Given the description of an element on the screen output the (x, y) to click on. 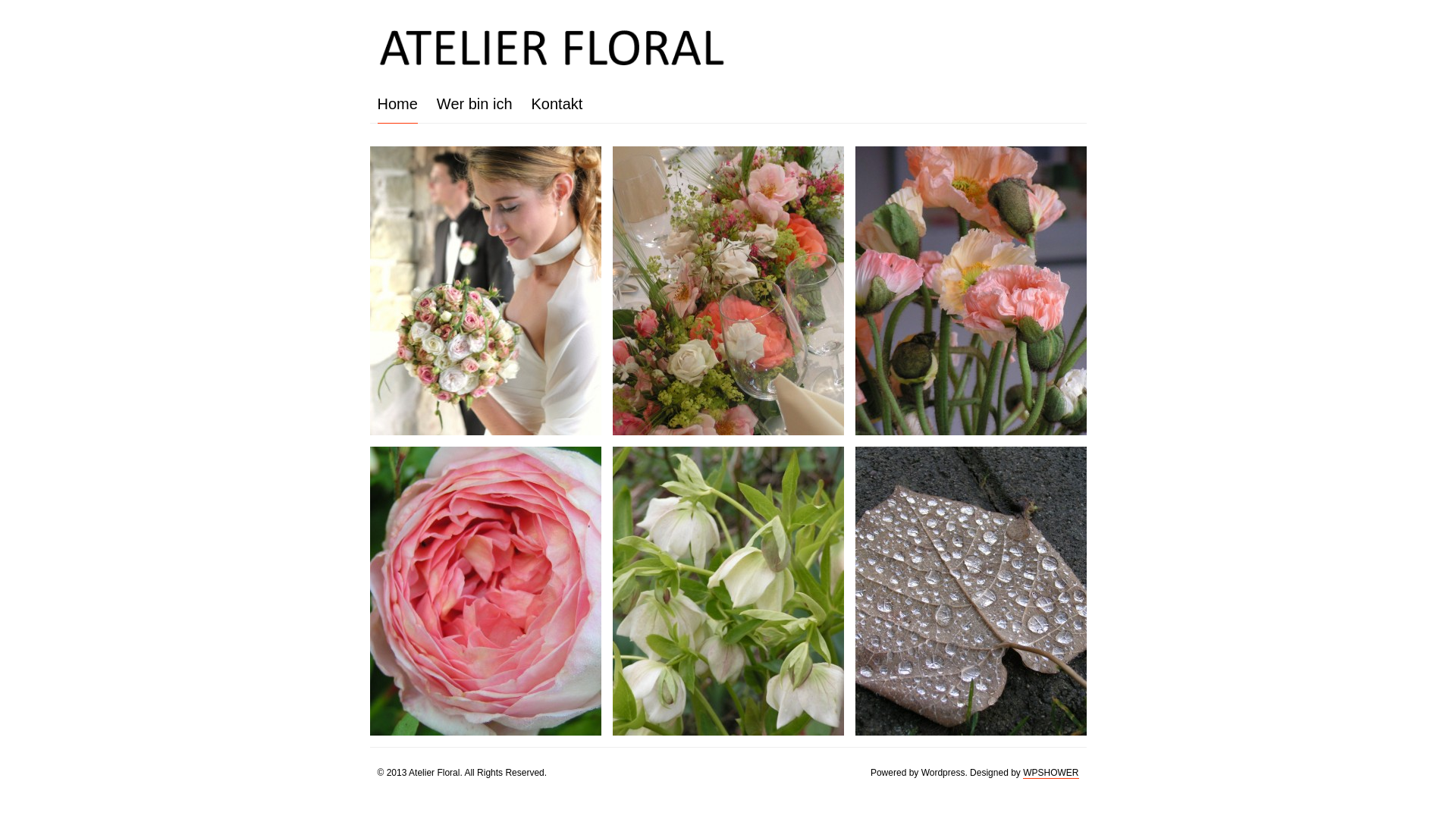
Gartenberatung Element type: hover (485, 590)
Events Element type: hover (728, 290)
Kontakt Element type: text (557, 103)
WPSHOWER Element type: text (1050, 772)
Hochzeit Element type: hover (485, 290)
Raumgestaltung Element type: hover (970, 290)
Home Element type: text (397, 103)
Terassen- und Balkonbepflanzung Element type: hover (728, 590)
Wer bin ich Element type: text (474, 103)
Trauerfloristik Element type: hover (970, 590)
